Given the description of an element on the screen output the (x, y) to click on. 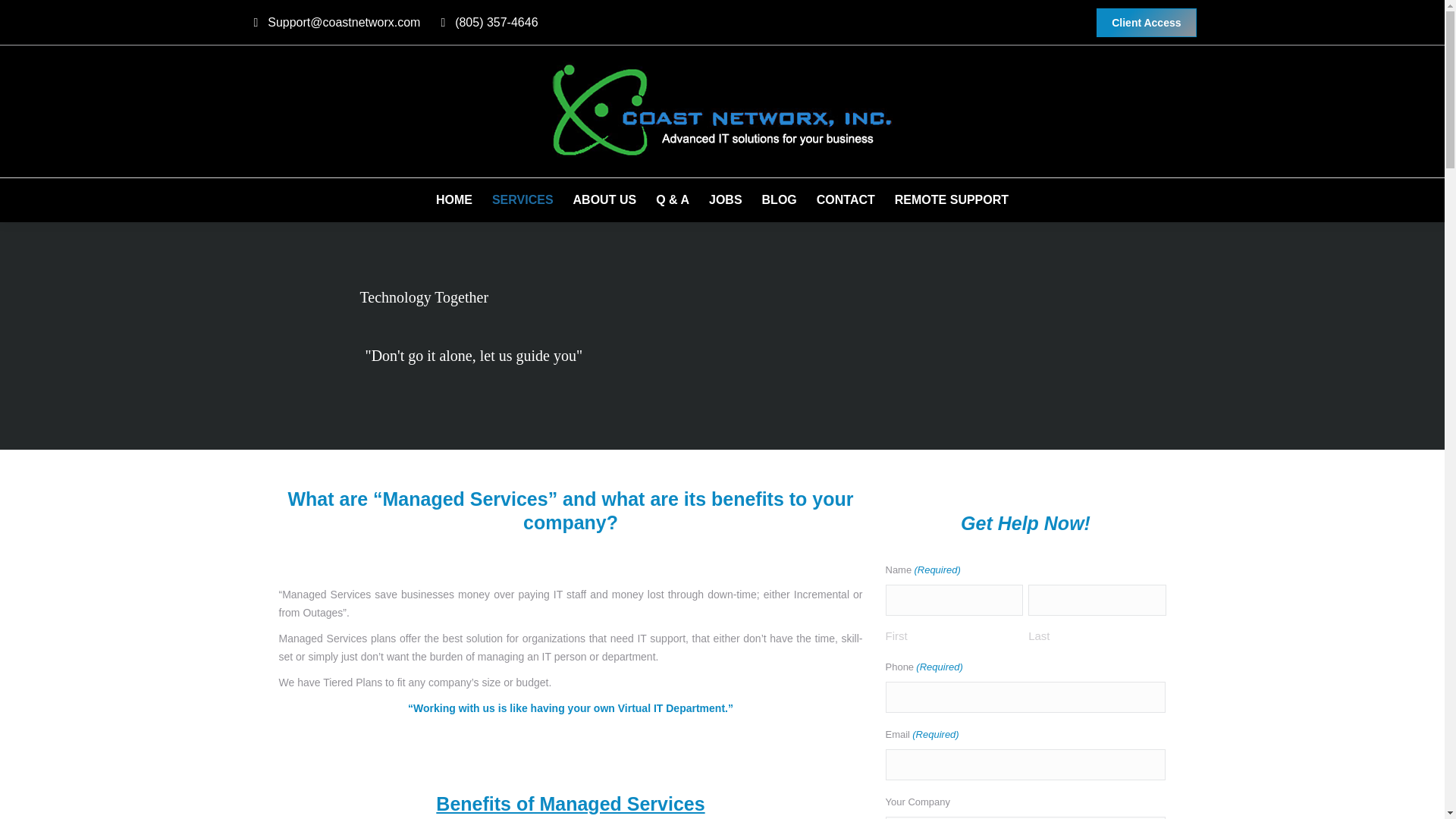
BLOG (778, 200)
HOME (453, 200)
SERVICES (522, 200)
CONTACT (845, 200)
REMOTE SUPPORT (952, 200)
ABOUT US (605, 200)
JOBS (725, 200)
Client Access (1145, 22)
